Given the description of an element on the screen output the (x, y) to click on. 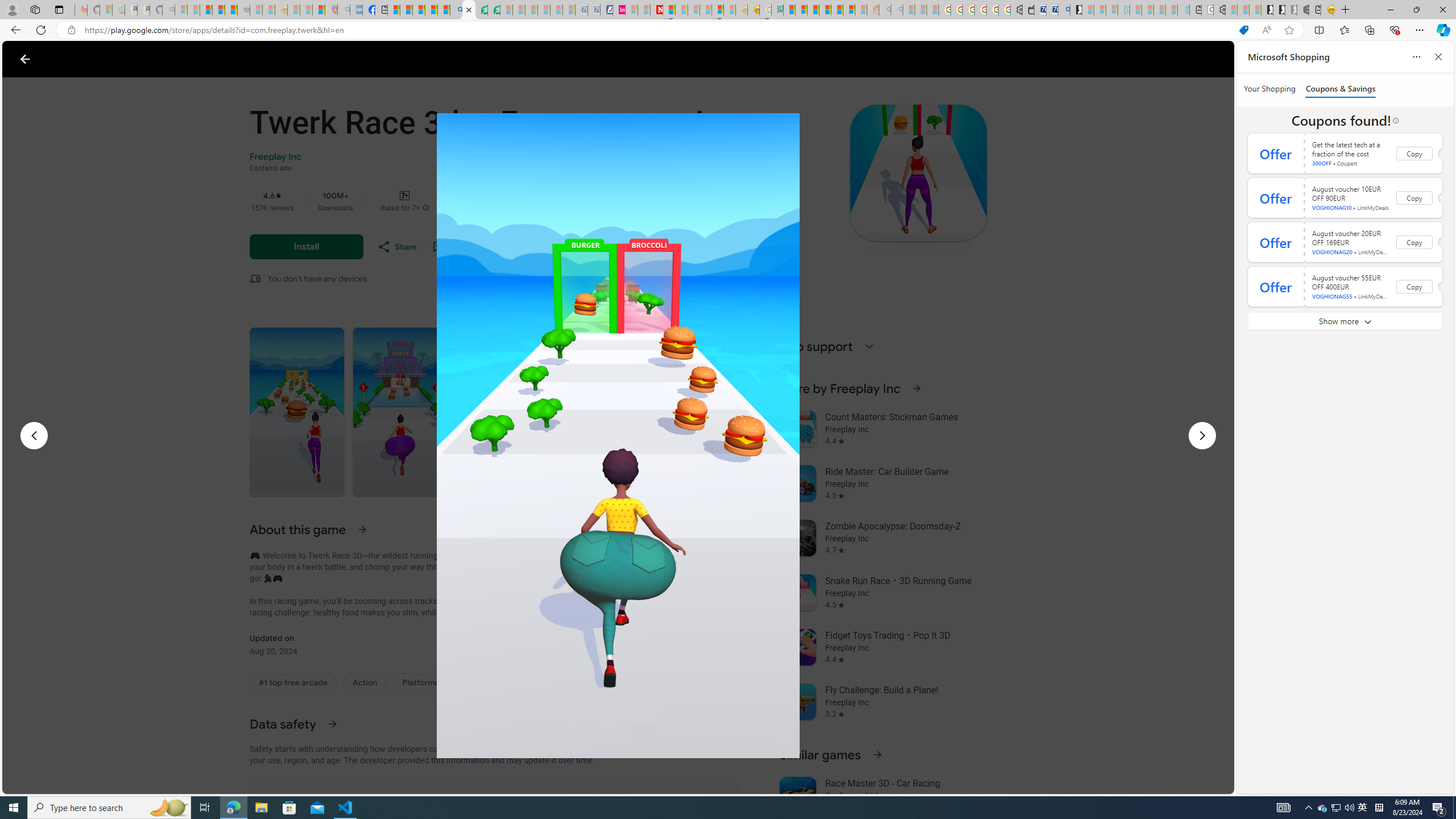
Close screenshot viewer (25, 58)
Bing Real Estate - Home sales and rental listings (1063, 9)
